Given the description of an element on the screen output the (x, y) to click on. 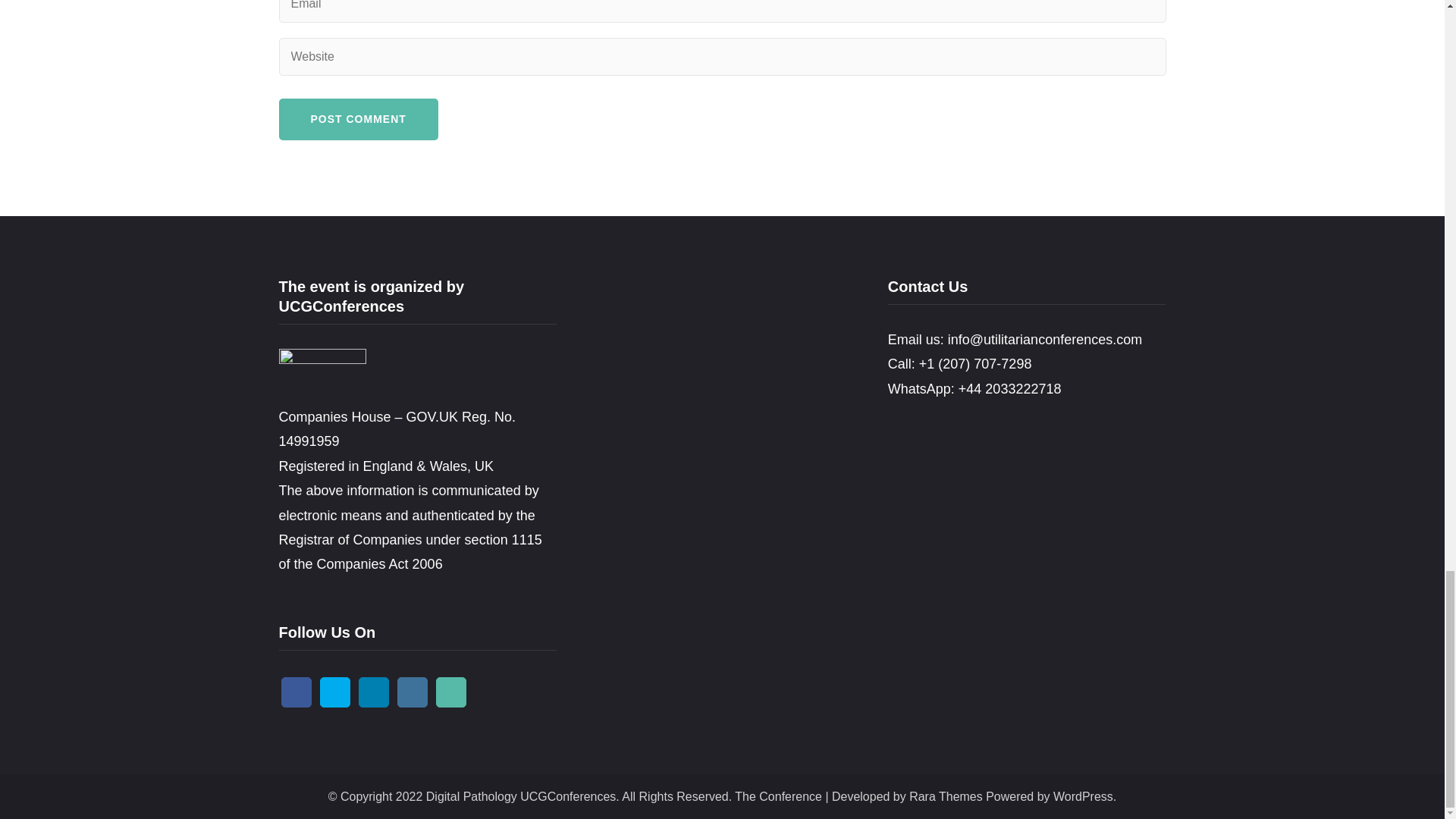
instagram (412, 692)
pinterest (450, 692)
facebook (296, 692)
Post Comment (358, 119)
twitter (335, 692)
linkedin (373, 692)
